Given the description of an element on the screen output the (x, y) to click on. 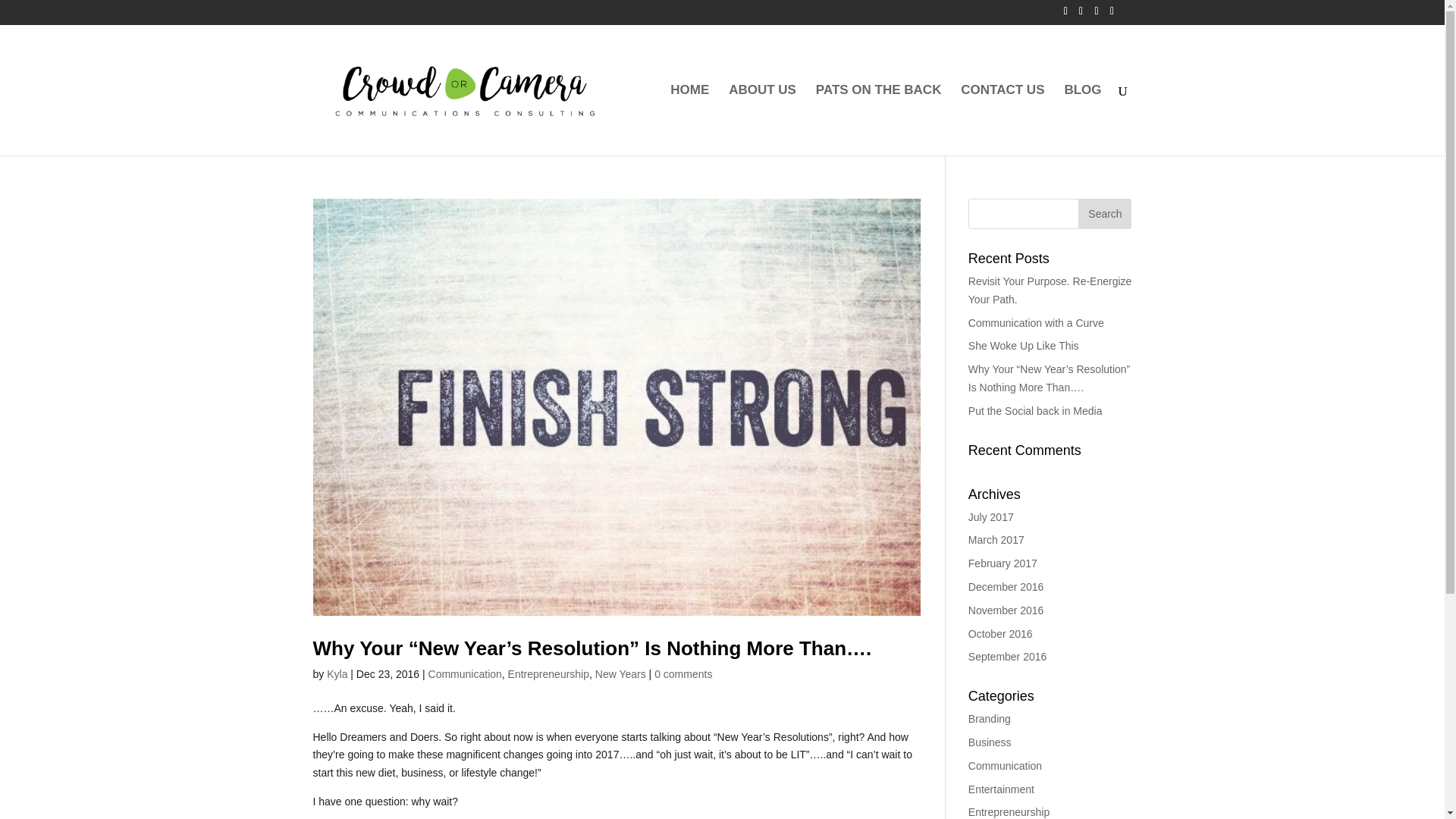
Communication (465, 674)
Entertainment (1000, 788)
Business (989, 742)
ABOUT US (762, 120)
New Years (620, 674)
Entrepreneurship (548, 674)
Kyla (336, 674)
Put the Social back in Media (1035, 410)
Search (1104, 214)
September 2016 (1007, 656)
Search (1104, 214)
Branding (989, 718)
October 2016 (1000, 633)
March 2017 (996, 539)
0 comments (682, 674)
